Given the description of an element on the screen output the (x, y) to click on. 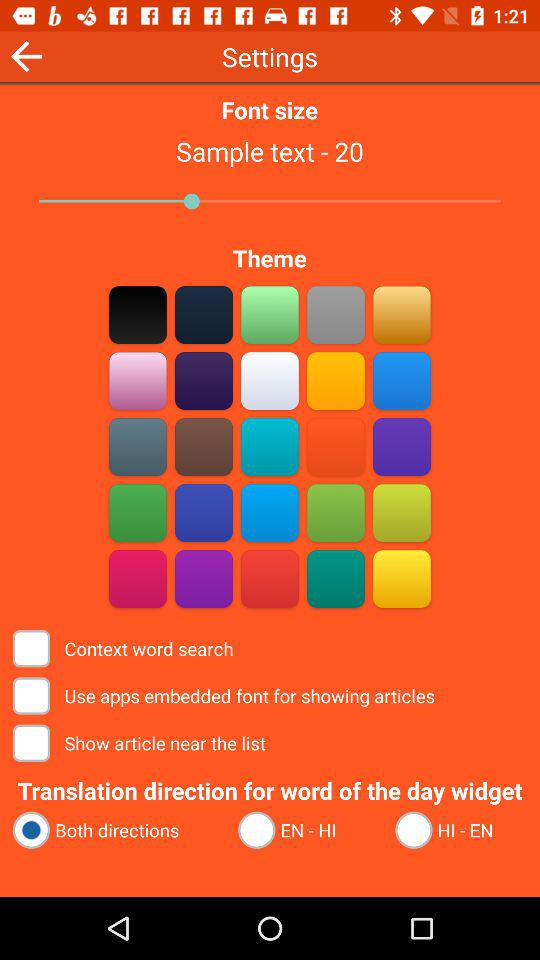
launch the icon to the left of font size icon (26, 56)
